Given the description of an element on the screen output the (x, y) to click on. 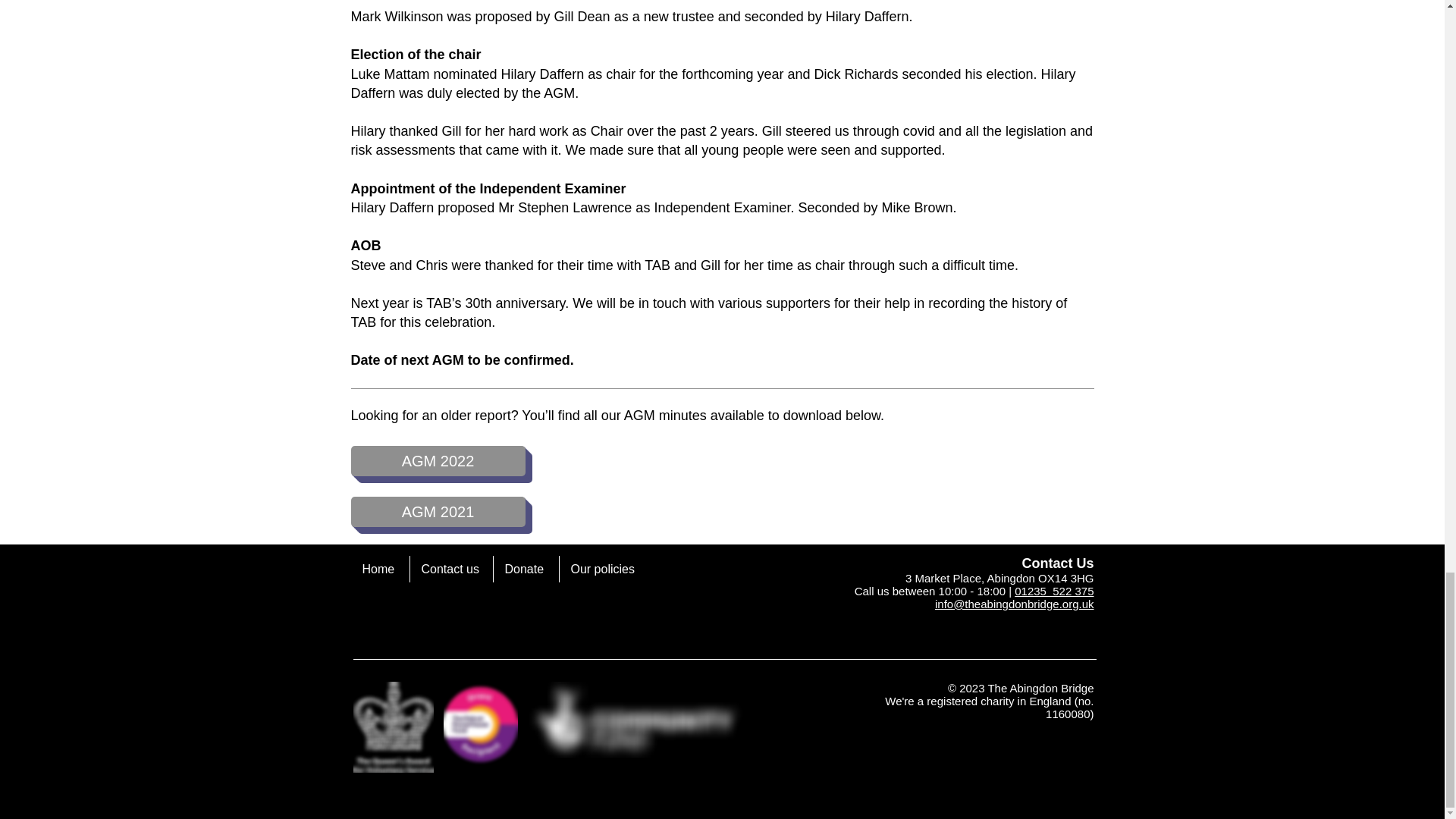
Home (379, 569)
AGM 2021 (437, 511)
Contact us (450, 569)
AGM 2022 (437, 460)
